Given the description of an element on the screen output the (x, y) to click on. 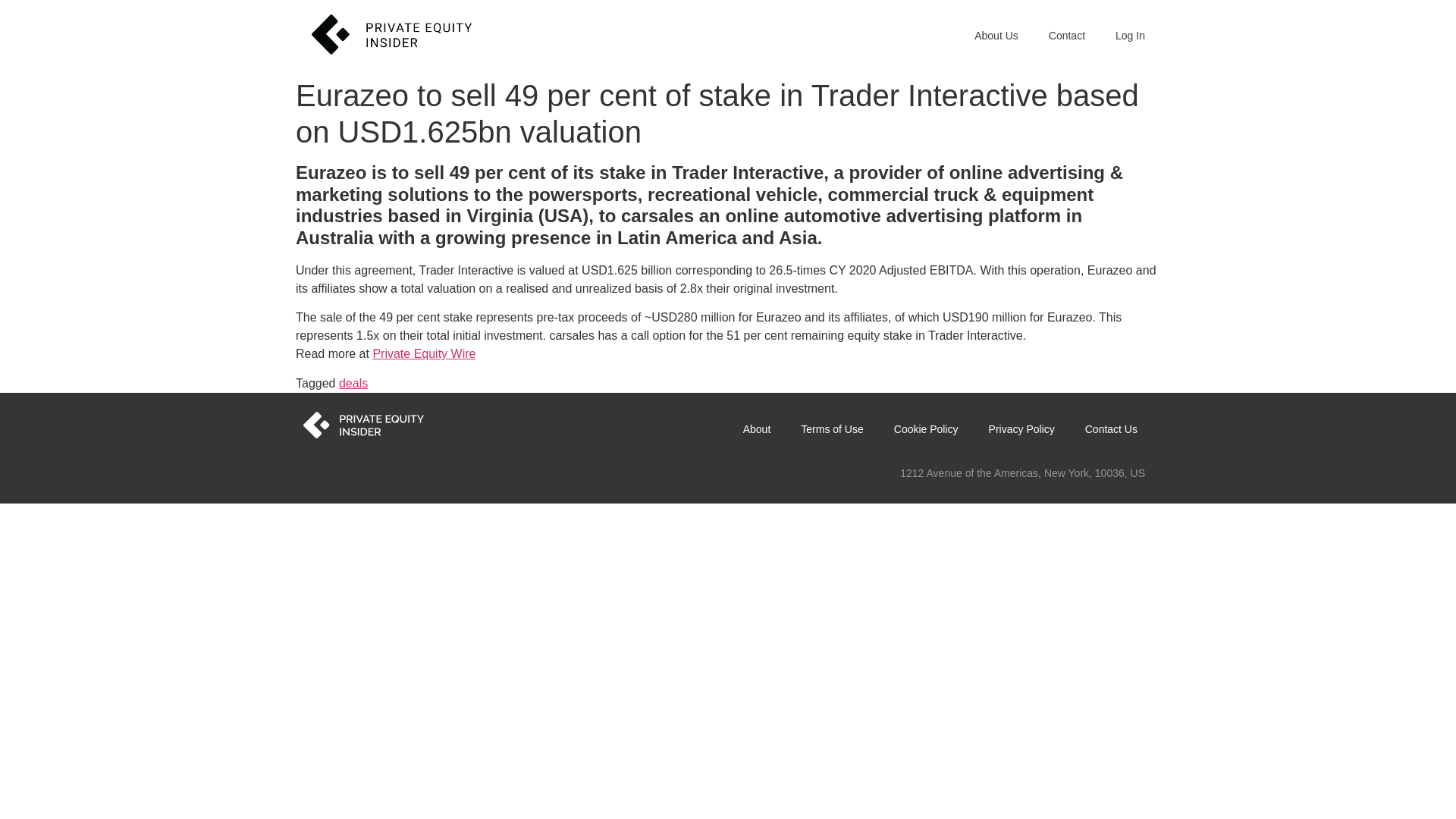
About Us (996, 35)
About (757, 428)
deals (353, 382)
Log In (1130, 35)
Cookie Policy (926, 428)
Private Equity Wire (424, 353)
Contact (1066, 35)
Privacy Policy (1022, 428)
Terms of Use (831, 428)
Contact Us (1111, 428)
